Given the description of an element on the screen output the (x, y) to click on. 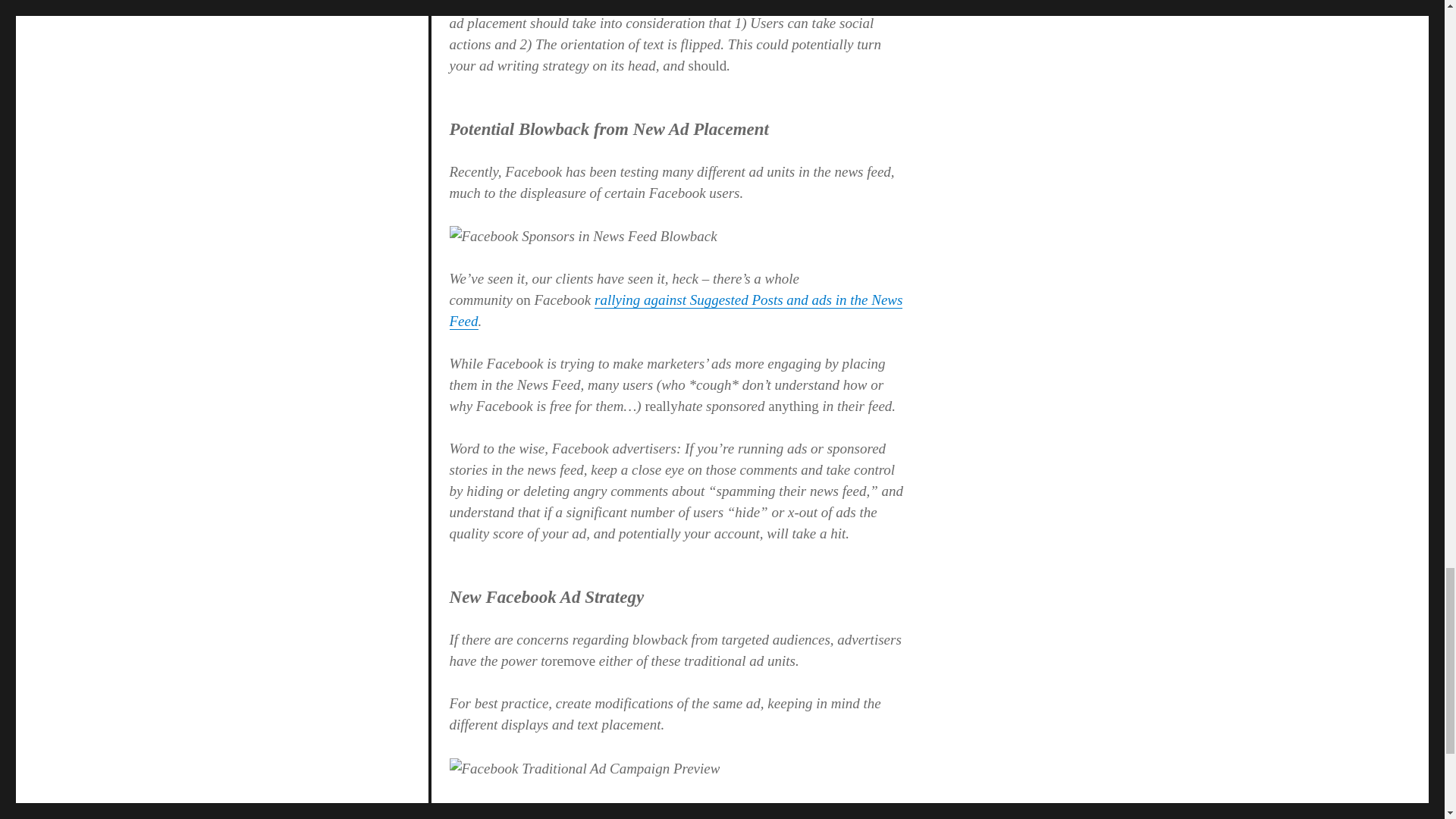
rallying against Suggested Posts and ads in the News Feed (675, 310)
Facebook Sponsors in News Feed Blowback (583, 236)
Facebook Traditional Ad Campaign Preview (584, 768)
